Given the description of an element on the screen output the (x, y) to click on. 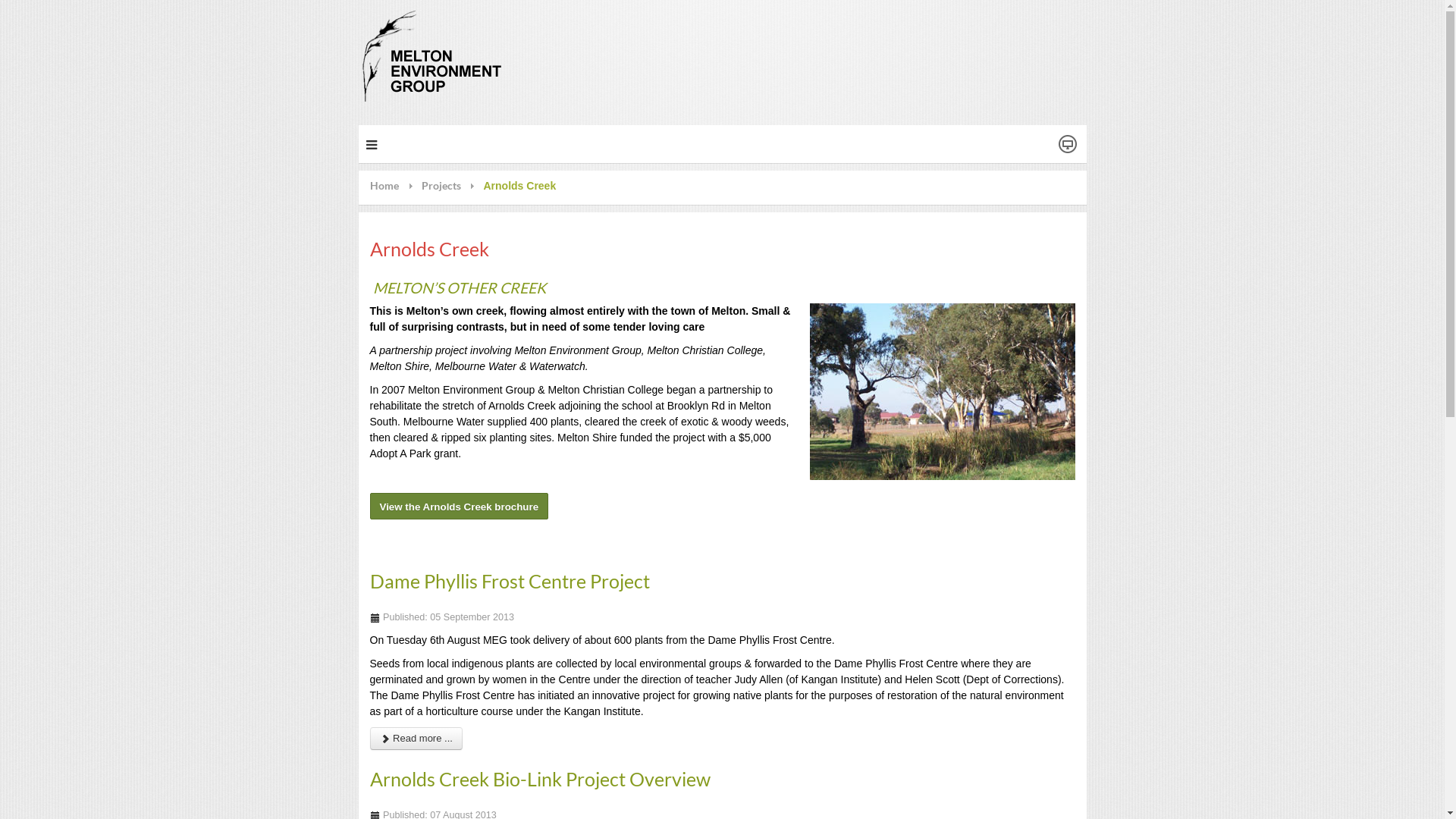
Projects Element type: text (452, 185)
View the Arnolds Creek brochure Element type: text (459, 505)
Home Element type: text (395, 185)
Read more ... Element type: text (416, 738)
Arnolds Creek Bio-Link Project Overview Element type: text (540, 778)
Dame Phyllis Frost Centre Project Element type: text (509, 580)
